Given the description of an element on the screen output the (x, y) to click on. 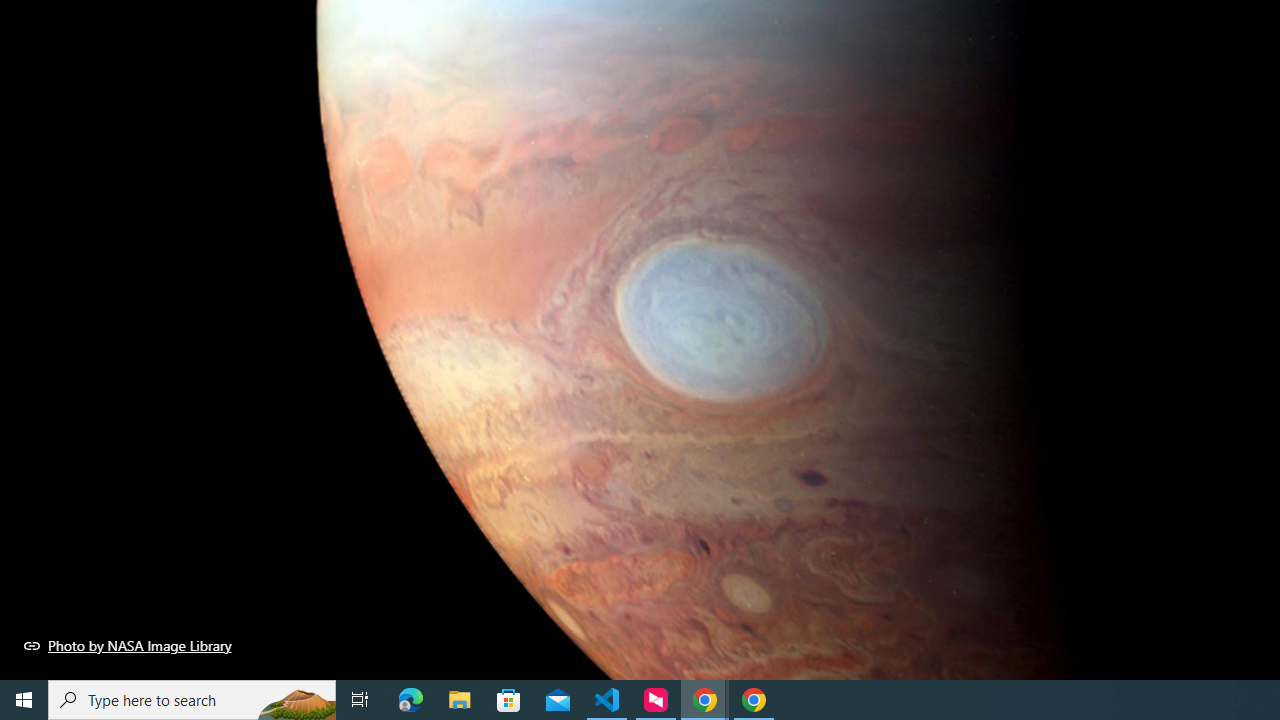
Photo by NASA Image Library (127, 645)
